Given the description of an element on the screen output the (x, y) to click on. 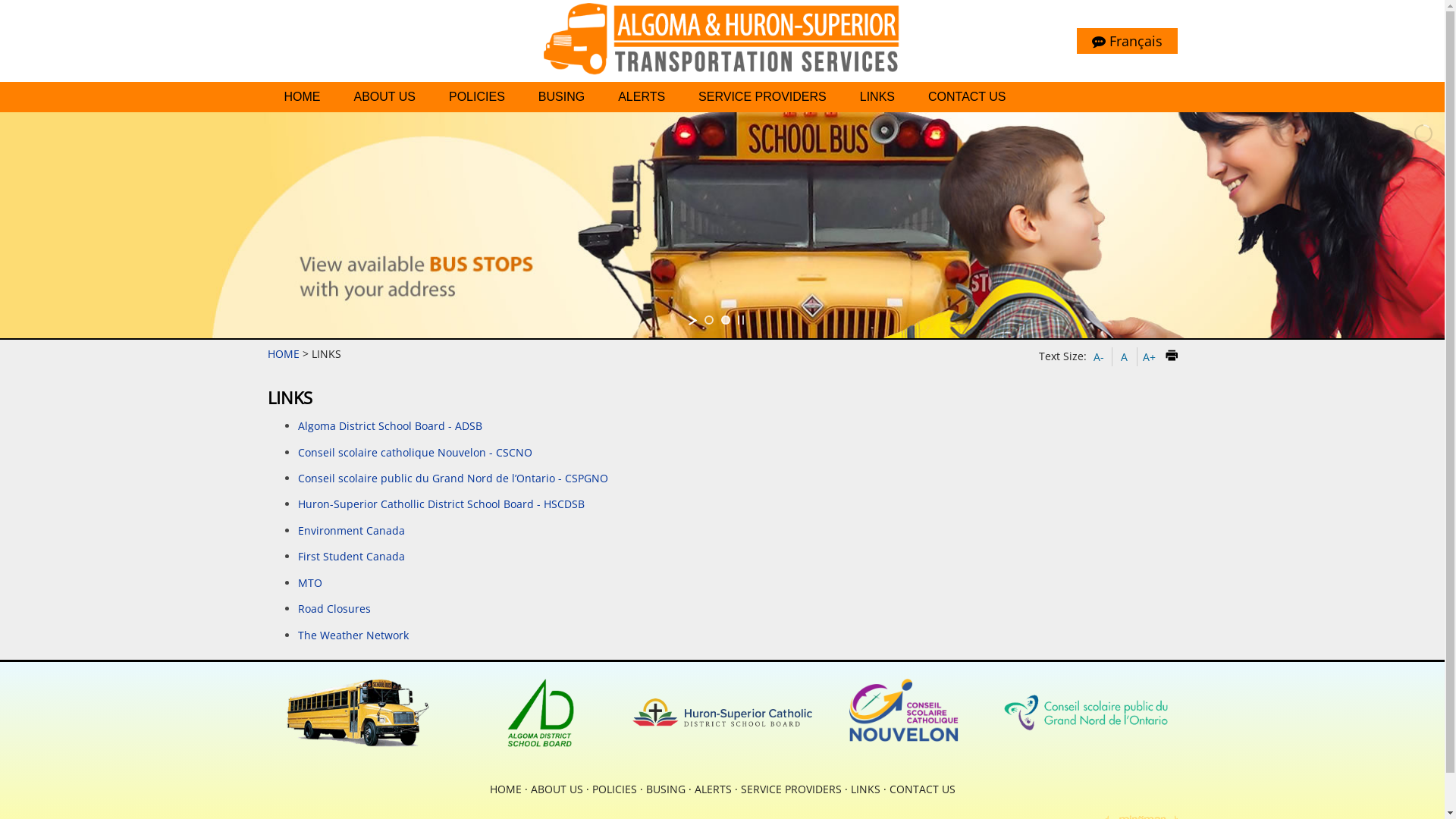
ALERTS Element type: text (641, 96)
The Weather Network Element type: text (352, 634)
HOME Element type: text (301, 96)
ABOUT US Element type: text (556, 788)
CONTACT US Element type: text (966, 96)
SERVICE PROVIDERS Element type: text (762, 96)
First Student Canada Element type: text (350, 556)
POLICIES Element type: text (476, 96)
A Element type: text (1126, 357)
BUSING Element type: text (665, 788)
ALERTS Element type: text (712, 788)
BUSING Element type: text (561, 96)
MTO Element type: text (309, 582)
A- Element type: text (1100, 357)
SERVICE PROVIDERS Element type: text (790, 788)
HOME Element type: text (282, 353)
POLICIES Element type: text (613, 788)
A+ Element type: text (1150, 357)
Conseil scolaire catholique Nouvelon - CSCNO Element type: text (414, 452)
Print This Page Element type: hover (1170, 355)
LINKS Element type: text (865, 788)
Road Closures Element type: text (333, 608)
Algoma District School Board - ADSB Element type: text (389, 425)
CONTACT US Element type: text (921, 788)
HOME Element type: text (505, 788)
Huron-Superior Cathollic District School Board - HSCDSB Element type: text (440, 503)
LINKS Element type: text (877, 96)
ABOUT US Element type: text (384, 96)
Environment Canada Element type: text (350, 530)
